Given the description of an element on the screen output the (x, y) to click on. 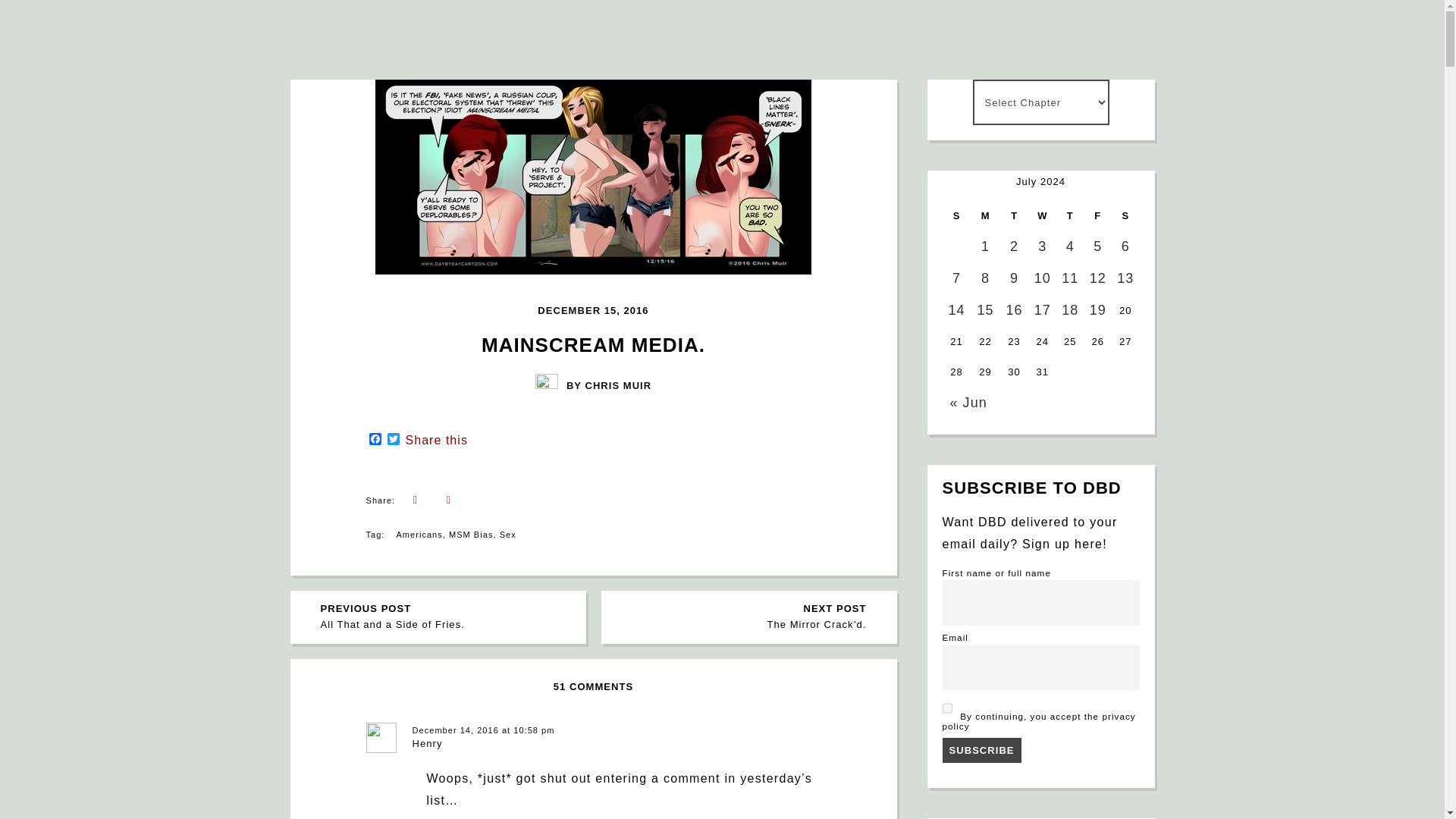
View posts for June 2024 (968, 402)
Americans (419, 533)
Facebook (374, 440)
Saturday (1126, 215)
Facebook (374, 440)
Thursday (1070, 215)
Sunday (956, 215)
Monday (440, 616)
Friday (985, 215)
BY CHRIS MUIR (1098, 215)
Wednesday (592, 384)
Twitter (1043, 215)
Twitter (392, 440)
Tuesday (392, 440)
